Given the description of an element on the screen output the (x, y) to click on. 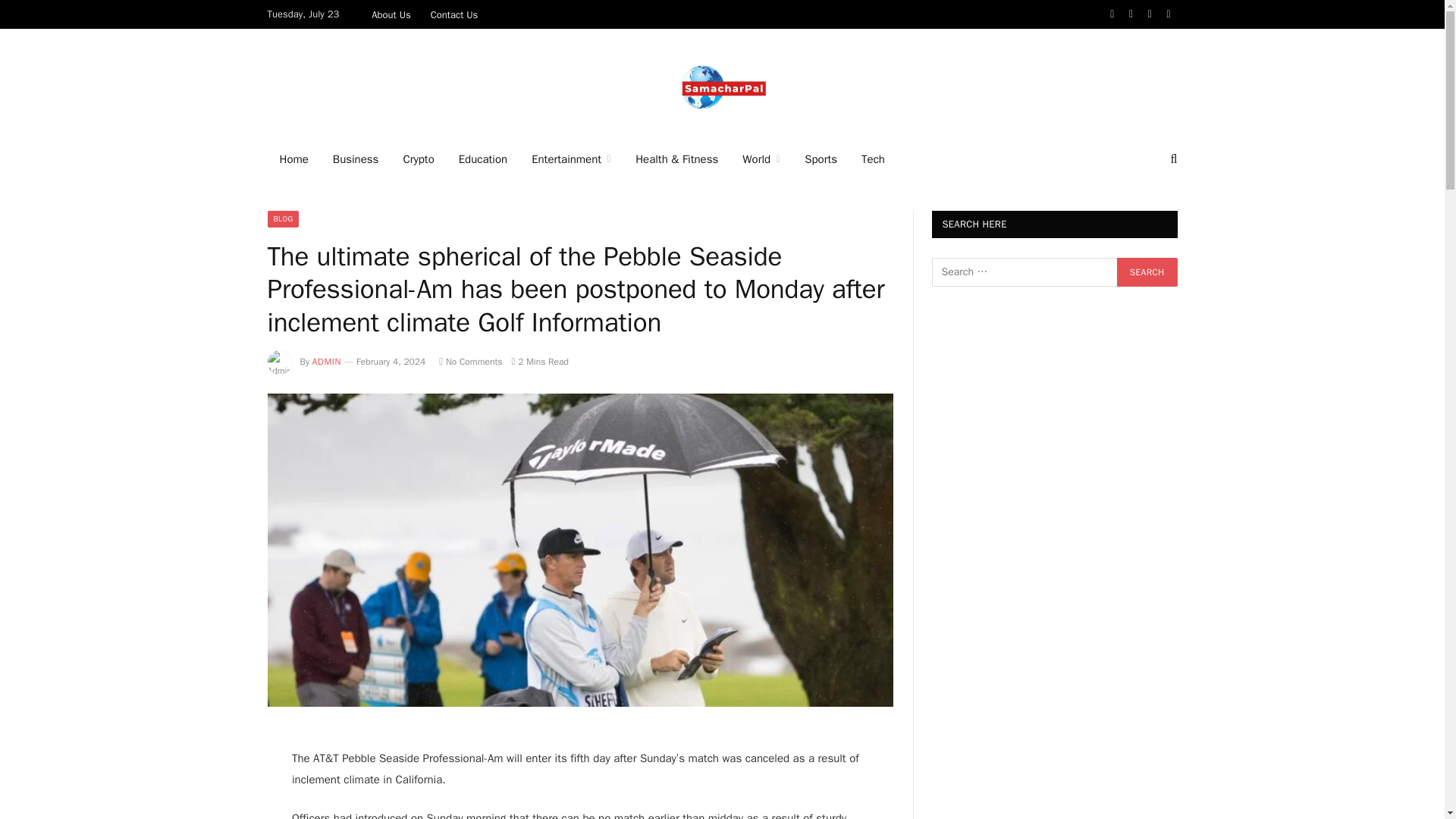
About Us (390, 14)
LinkedIn (1149, 14)
Search (1146, 271)
VKontakte (1168, 14)
Home (293, 159)
Contact Us (453, 14)
Crypto (417, 159)
Search (1172, 159)
Sports (820, 159)
Search (1146, 271)
Samacharpal (722, 83)
BLOG (282, 218)
Entertainment (571, 159)
World (761, 159)
